Given the description of an element on the screen output the (x, y) to click on. 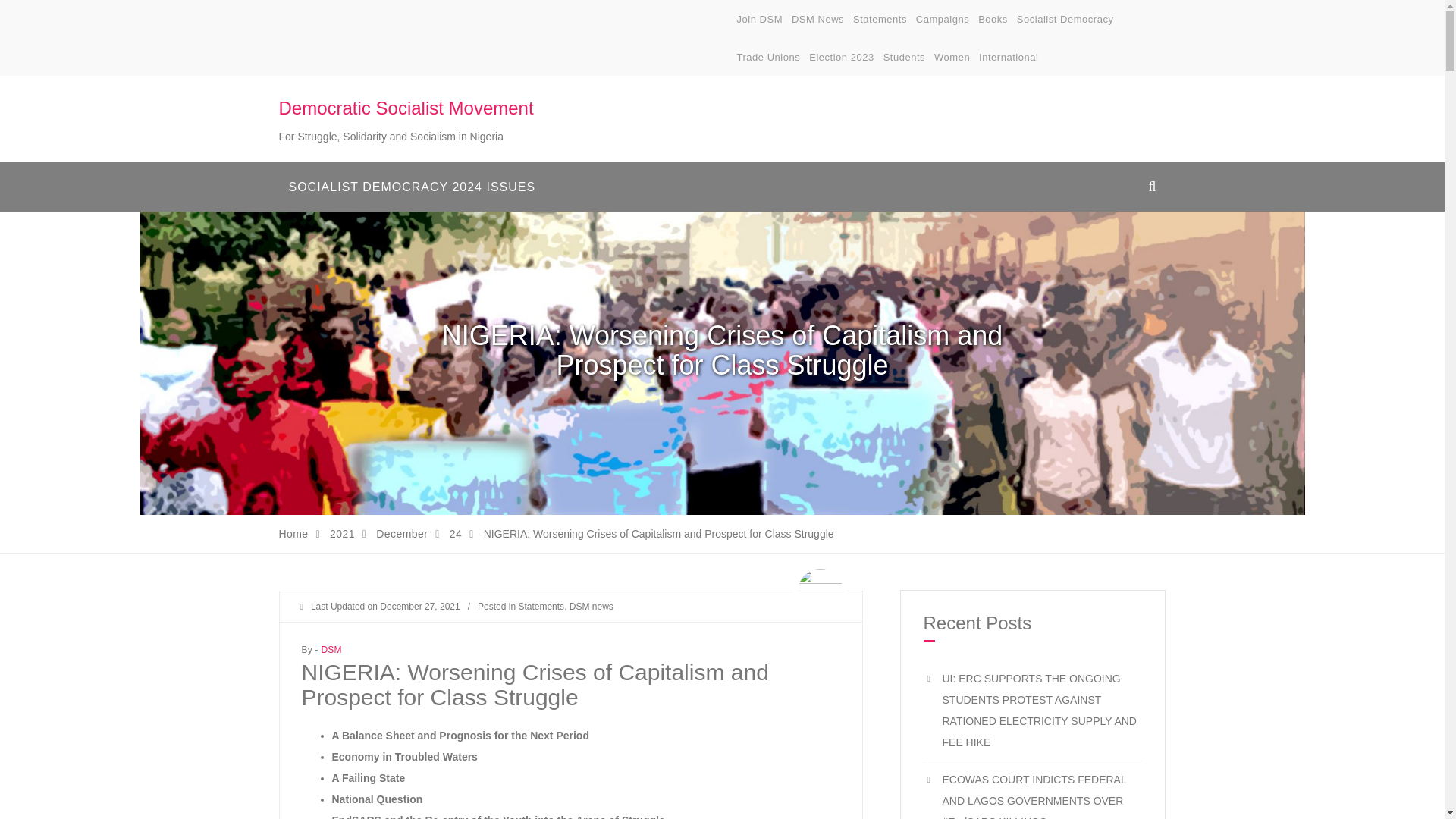
Students (903, 57)
2021 (342, 533)
Women (951, 57)
Books (992, 19)
Campaigns (942, 19)
Socialist Democracy (1064, 19)
DSM news (590, 606)
Statements (880, 19)
Socialist Democracy 2024 issues (412, 186)
DSM (330, 649)
SOCIALIST DEMOCRACY 2024 ISSUES (412, 186)
Trade Unions (768, 57)
Democratic Socialist Movement (406, 107)
24 (455, 533)
Home (293, 533)
